Given the description of an element on the screen output the (x, y) to click on. 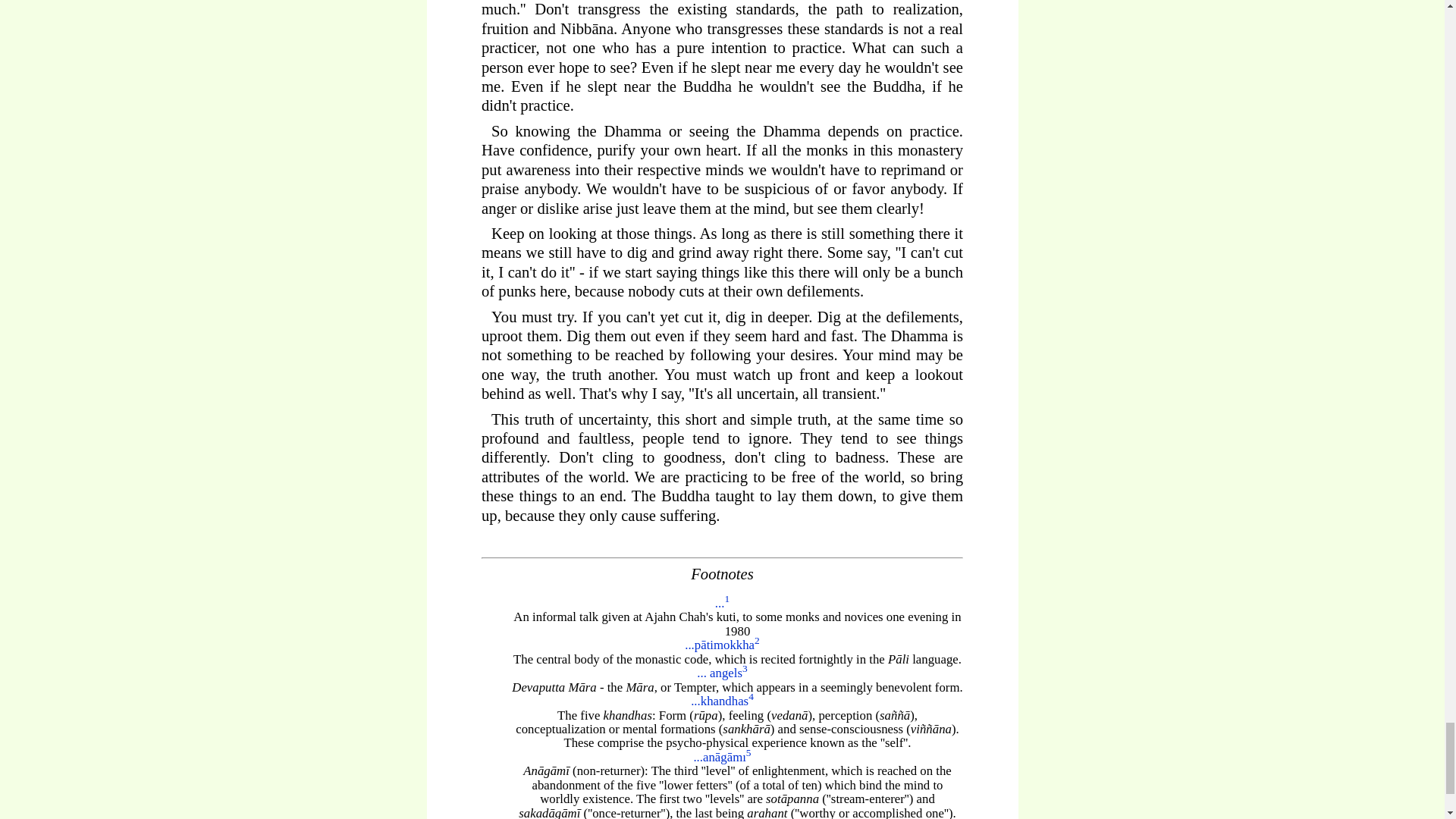
...khandhas (719, 700)
... angels (719, 672)
